Given the description of an element on the screen output the (x, y) to click on. 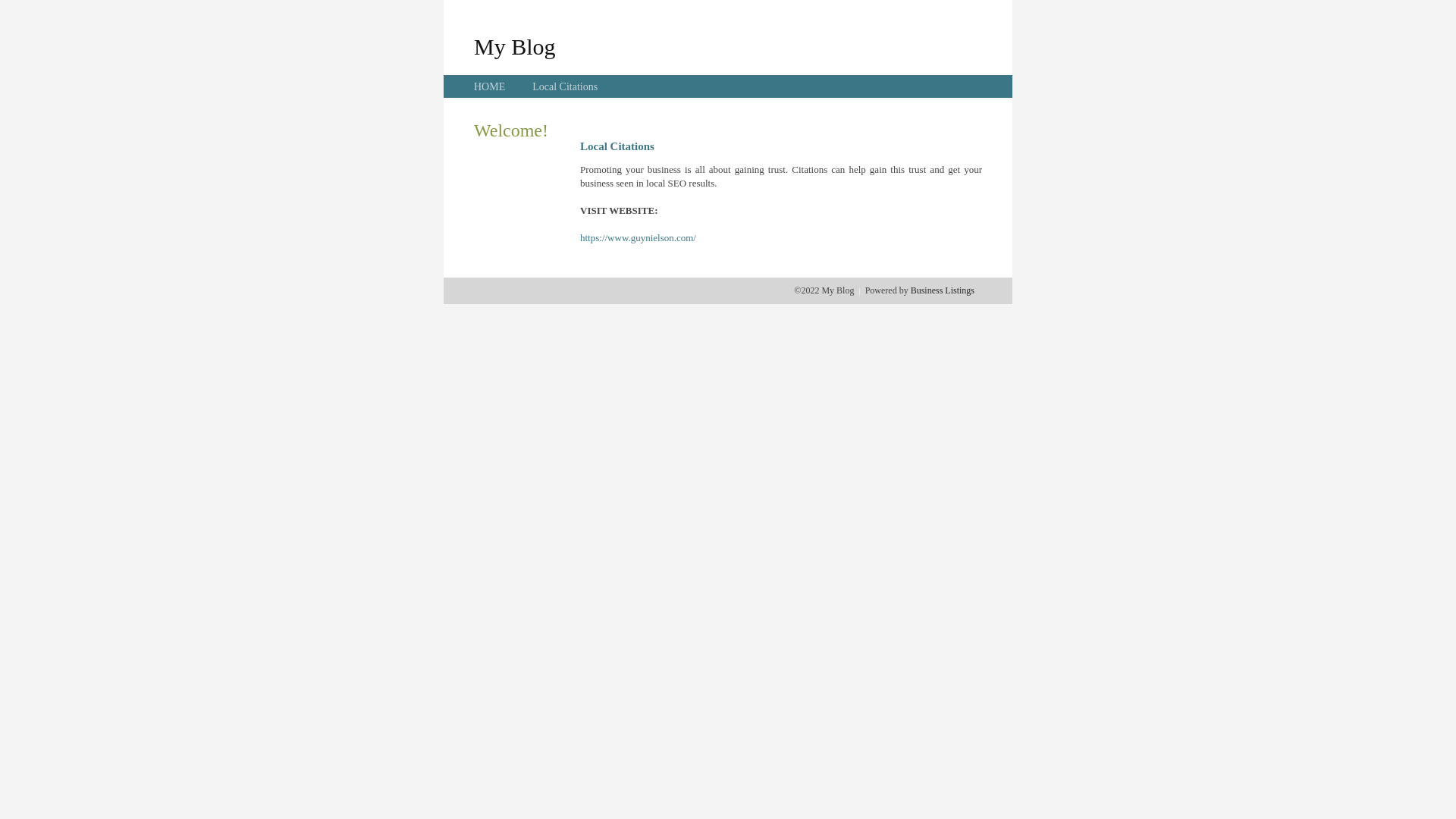
HOME Element type: text (489, 86)
https://www.guynielson.com/ Element type: text (638, 237)
Local Citations Element type: text (564, 86)
My Blog Element type: text (514, 46)
Business Listings Element type: text (942, 290)
